Given the description of an element on the screen output the (x, y) to click on. 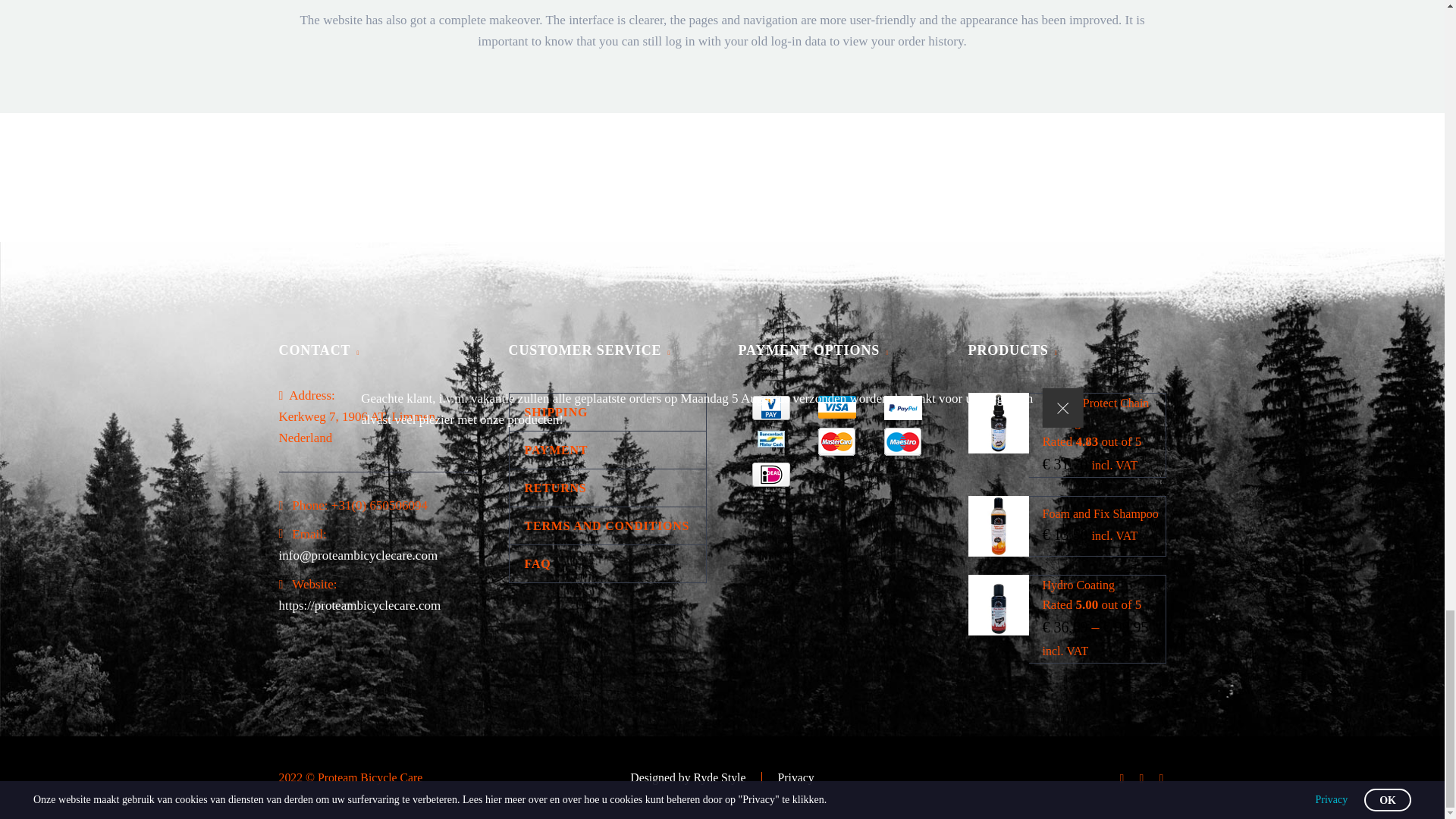
Facebook (1122, 778)
Instagram (1141, 778)
Foam and Fix Shampoo (1099, 513)
YouTube (1161, 778)
Hydro Coating (1078, 584)
